Given the description of an element on the screen output the (x, y) to click on. 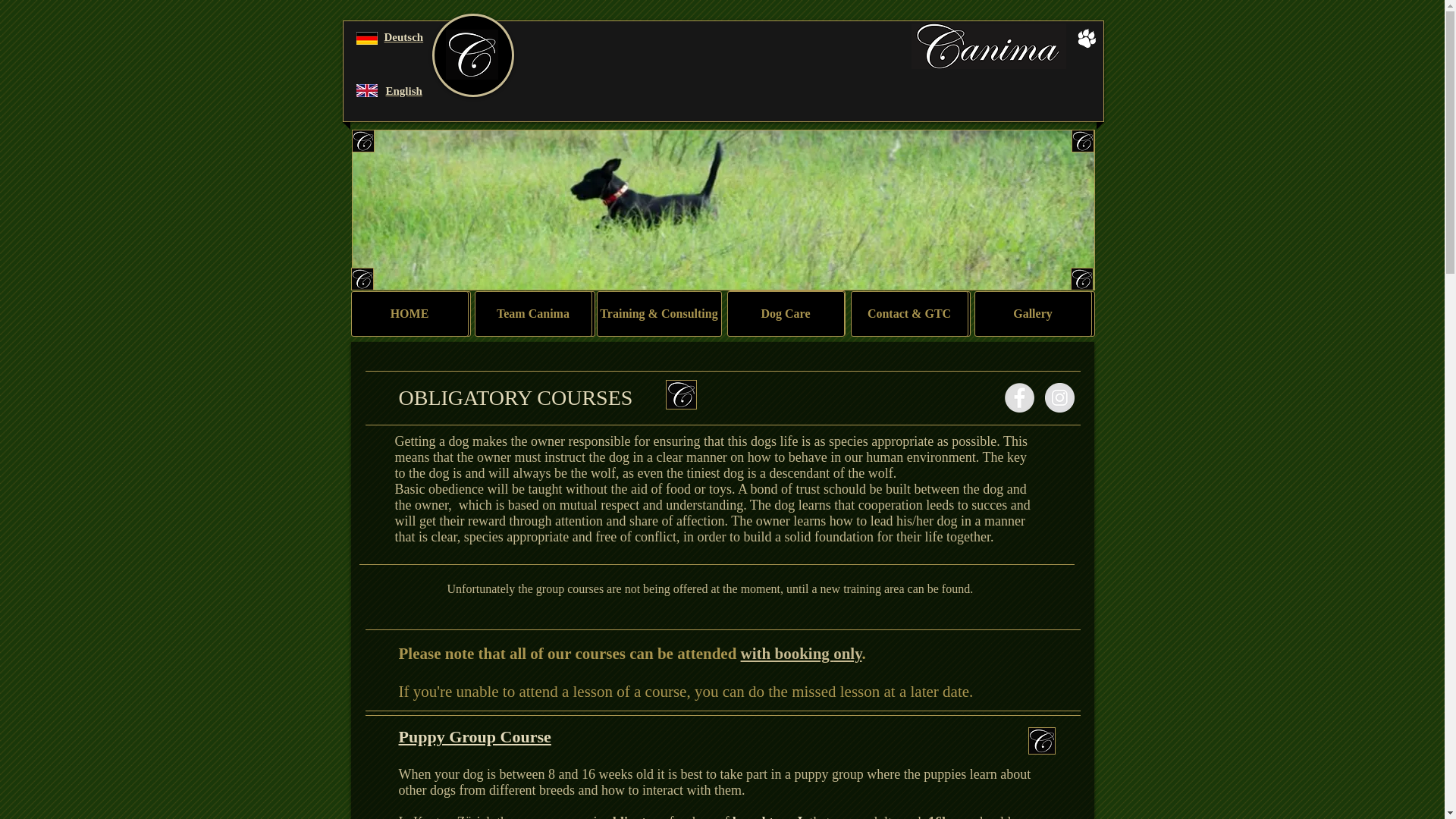
HOME Element type: text (411, 313)
Deutsch Element type: text (403, 37)
Training & Consulting Element type: text (658, 313)
German Version Element type: hover (366, 37)
with booking only Element type: text (801, 653)
Canima Element type: hover (1081, 278)
Fotogalerie Element type: text (1035, 313)
Canima Element type: hover (1081, 140)
Kontakt & AGB Element type: text (910, 313)
HOME Element type: text (408, 313)
Gallery Element type: text (1032, 313)
Canima dog school and care Element type: hover (988, 46)
Canima Element type: hover (361, 278)
Canima Element type: hover (1041, 740)
Canima Element type: hover (362, 140)
Betreuung Element type: text (659, 313)
Team Canima Element type: text (536, 313)
Dog Care Element type: text (785, 313)
Contact & GTC Element type: text (909, 313)
Canima Element type: hover (680, 394)
Canima Element type: hover (471, 54)
English Element type: text (403, 90)
Coaching Element type: text (786, 312)
Team Canima Element type: text (533, 313)
English Version Element type: hover (366, 90)
